Given the description of an element on the screen output the (x, y) to click on. 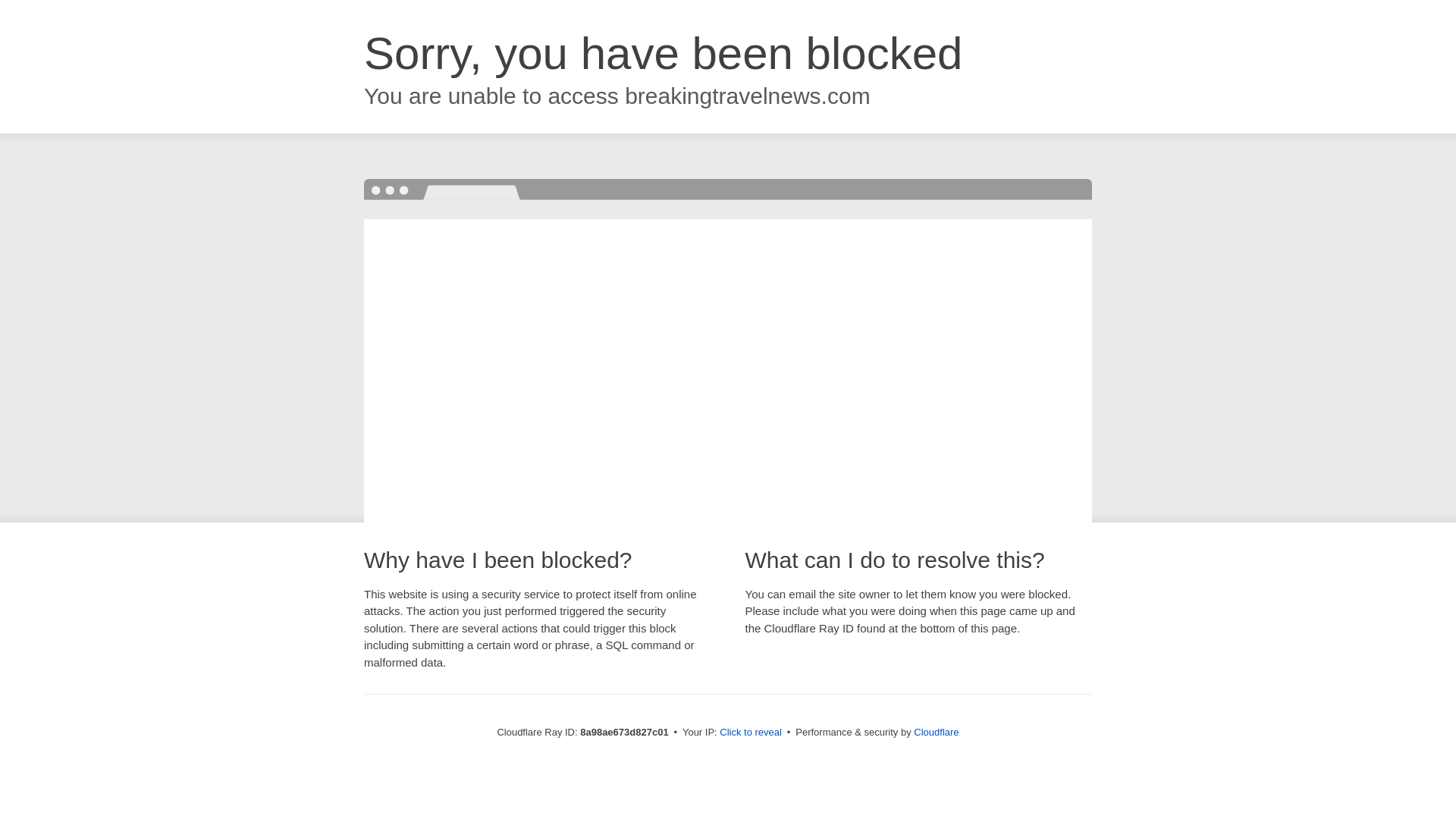
Click to reveal (750, 732)
Cloudflare (936, 731)
